Given the description of an element on the screen output the (x, y) to click on. 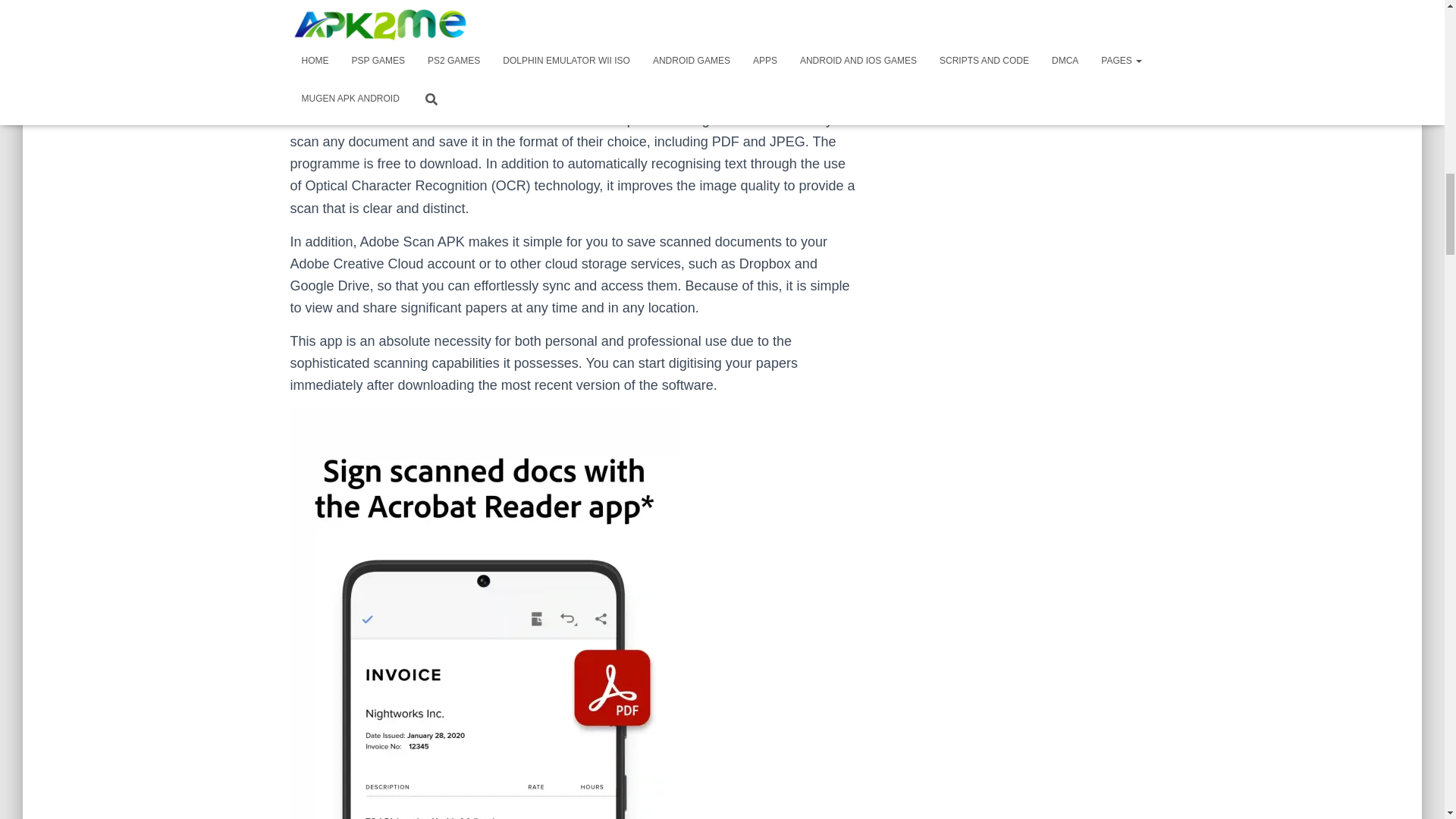
5.1 Requirements And Additional Information (424, 2)
